Given the description of an element on the screen output the (x, y) to click on. 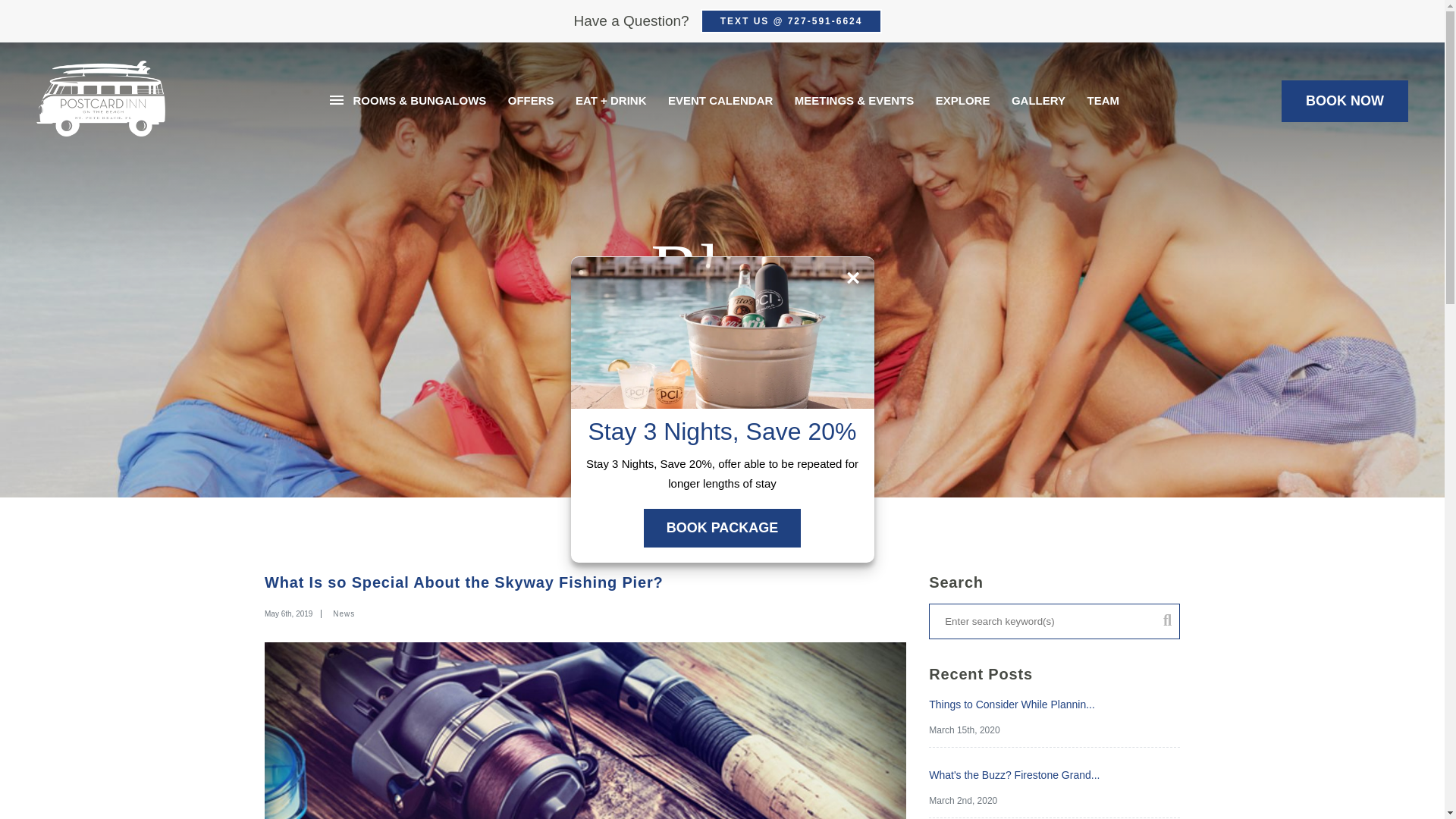
OFFERS (531, 100)
EXPLORE (962, 100)
BOOK NOW (1344, 101)
TEAM (1102, 100)
GALLERY (1038, 100)
News (343, 613)
EVENT CALENDAR (720, 100)
